Given the description of an element on the screen output the (x, y) to click on. 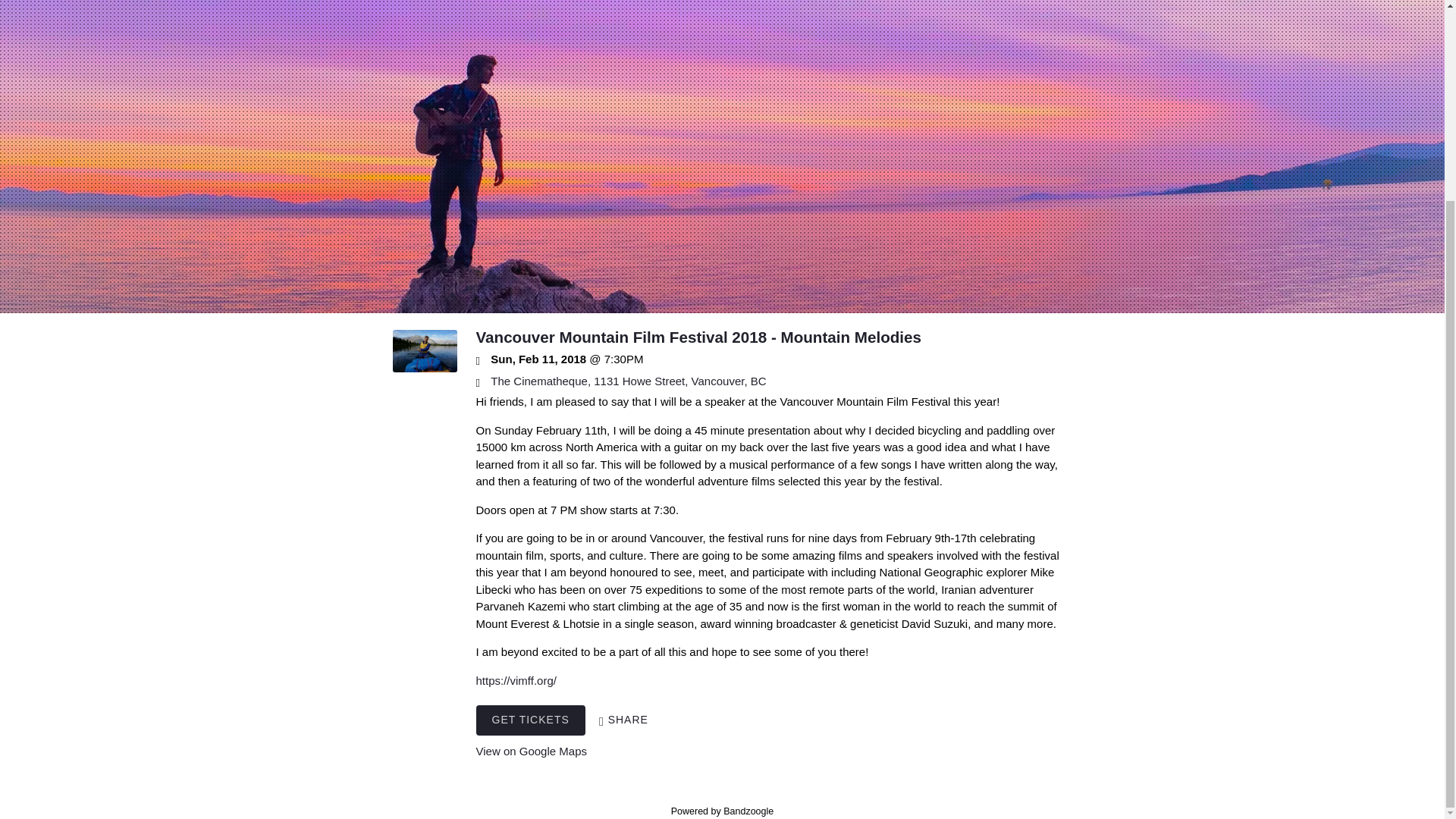
Vancouver Mountain Film Festival 2018 - Mountain Melodies (425, 367)
Vancouver Mountain Film Festival 2018 - Mountain Melodies (698, 336)
View on Google Maps (627, 380)
Powered by Bandzoogle (722, 810)
